Given the description of an element on the screen output the (x, y) to click on. 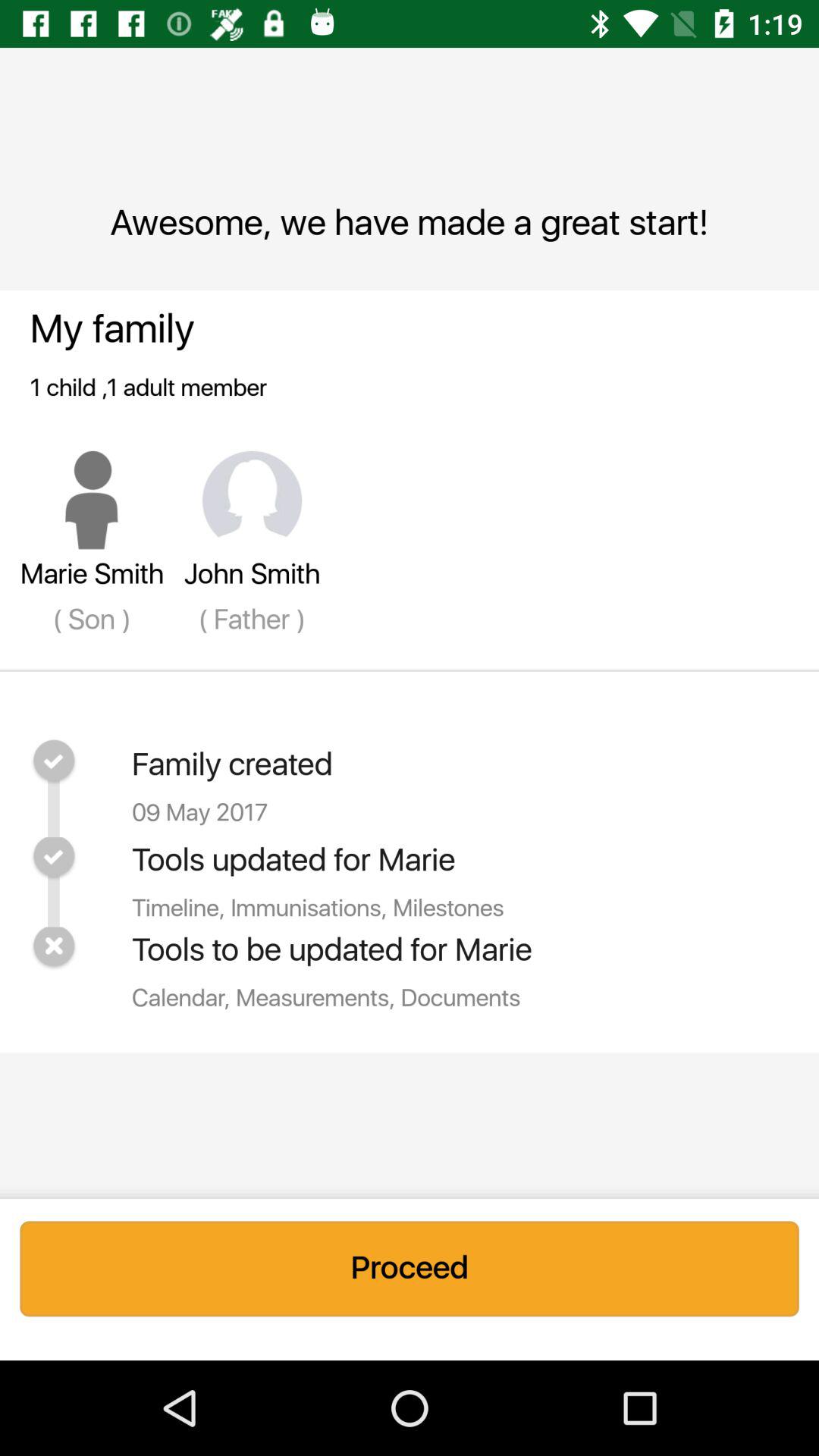
turn on item below calendar, measurements, documents (409, 1268)
